Given the description of an element on the screen output the (x, y) to click on. 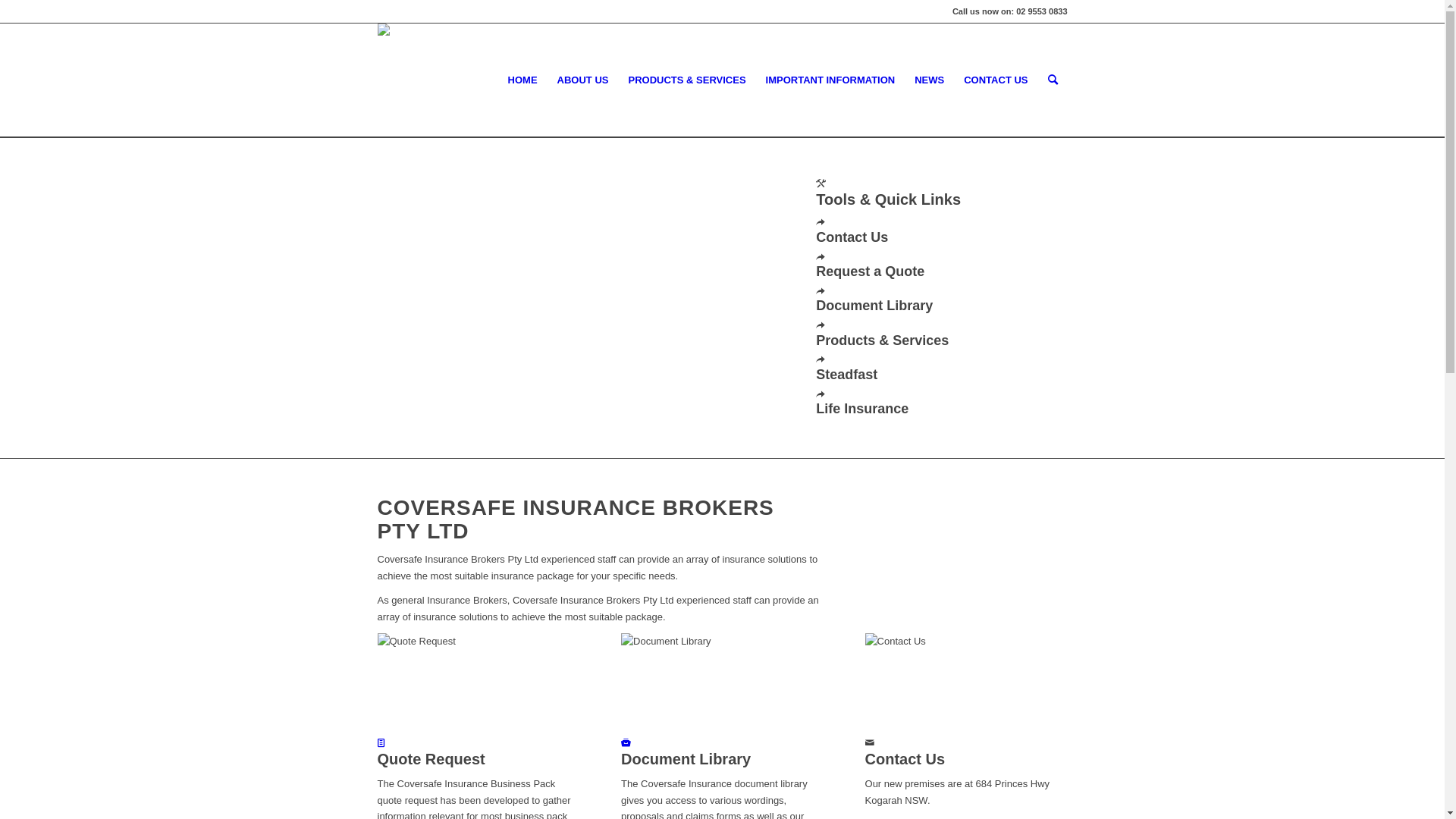
Document Library Element type: text (685, 758)
NEWS Element type: text (928, 80)
Life Insurance Element type: text (861, 408)
Coversafe-logo-header-01 Element type: hover (447, 46)
ABOUT US Element type: text (582, 80)
Request a Quote Element type: text (869, 271)
Quote Request Element type: text (431, 758)
Quote Request Element type: hover (478, 683)
Quote Request Element type: hover (380, 742)
PRODUCTS & SERVICES Element type: text (686, 80)
Steadfast Element type: text (846, 374)
Contact Us Element type: hover (966, 683)
Contact Us Element type: text (851, 236)
Document Library Element type: hover (625, 742)
Document Library Element type: text (873, 305)
IMPORTANT INFORMATION Element type: text (830, 80)
HOME Element type: text (522, 80)
CONTACT US Element type: text (995, 80)
Products & Services Element type: text (881, 340)
Document Library Element type: hover (722, 683)
